Given the description of an element on the screen output the (x, y) to click on. 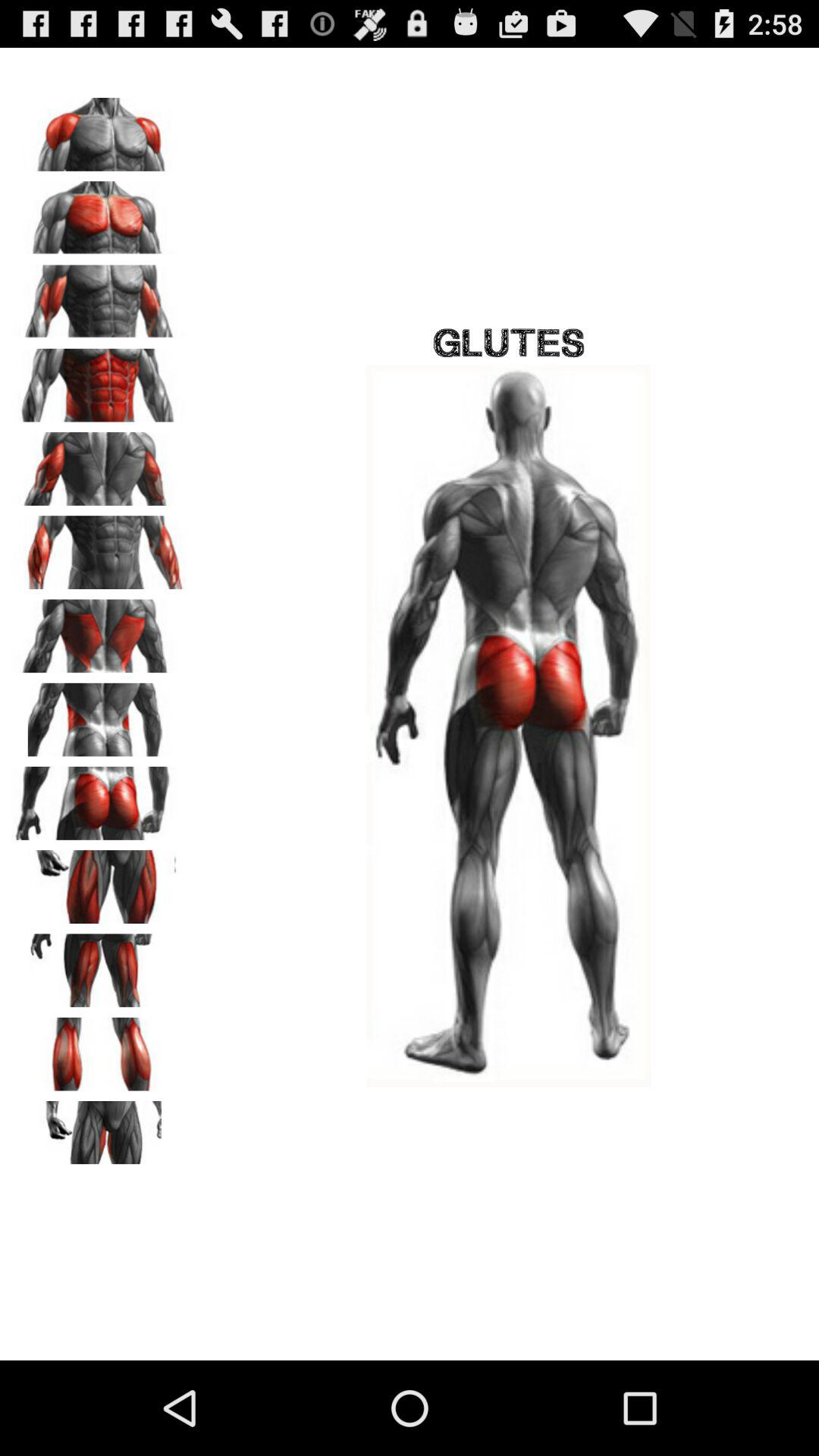
select back (99, 630)
